Given the description of an element on the screen output the (x, y) to click on. 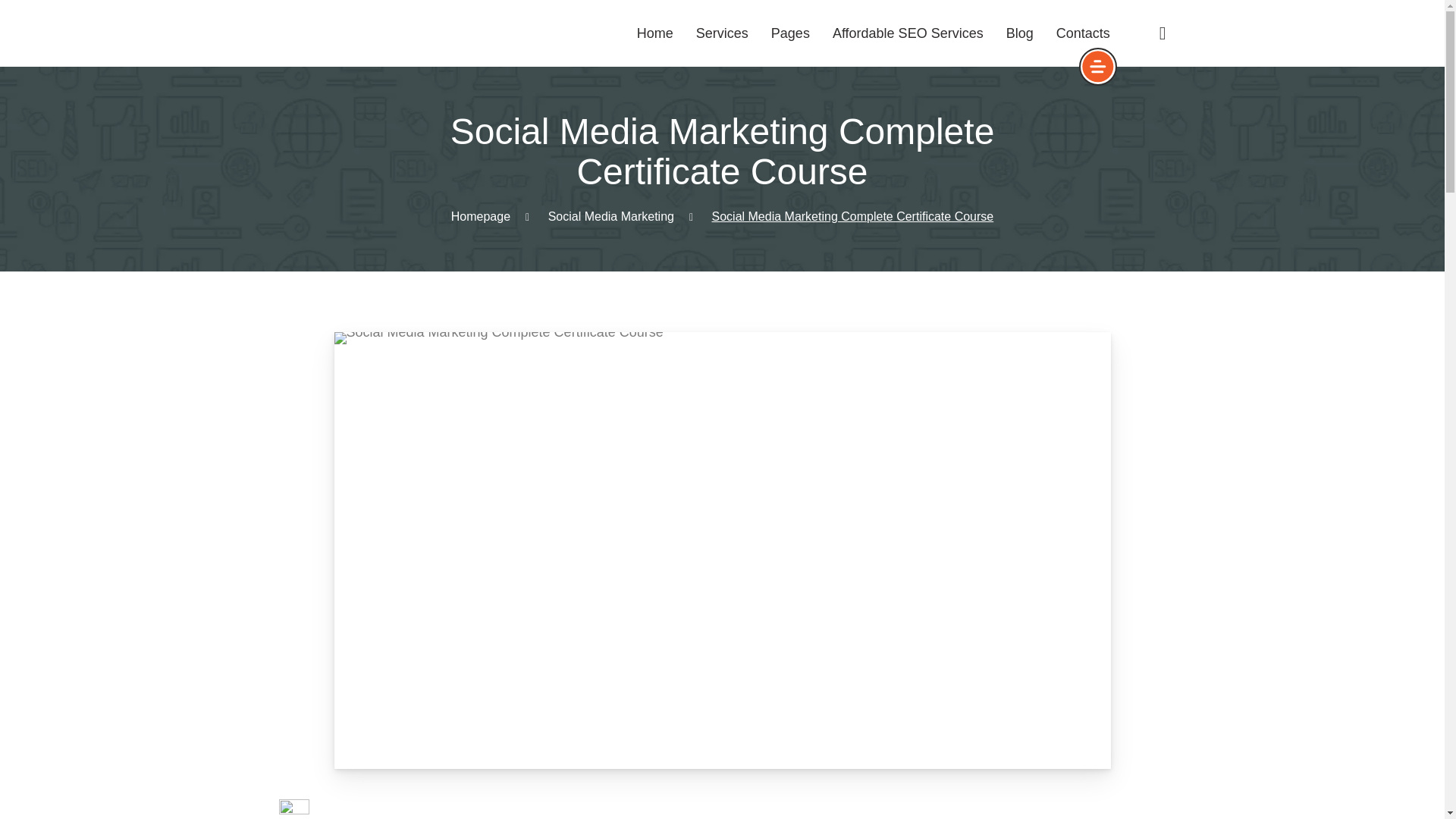
Services (721, 33)
Affordable SEO Services (908, 33)
Contacts (1083, 33)
Homepage (481, 215)
Pages (790, 33)
Blog (1019, 33)
Social Media Marketing (611, 215)
Home (654, 33)
